Given the description of an element on the screen output the (x, y) to click on. 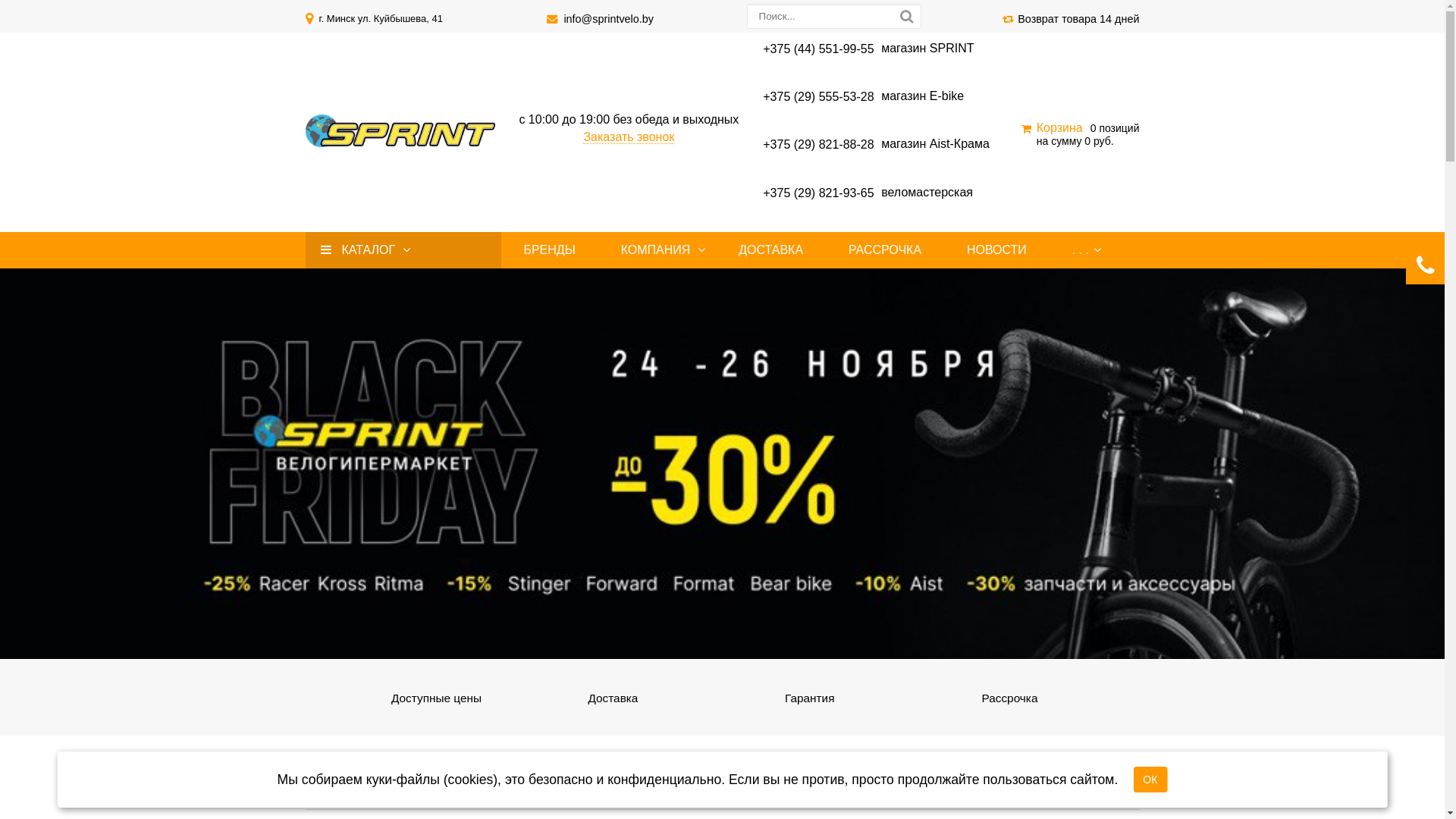
. . . Element type: text (1080, 250)
+375 (29) 821-93-65 Element type: text (817, 192)
+375 (29) 555-53-28 Element type: text (817, 95)
+375 (29) 821-88-28 Element type: text (817, 143)
info@sprintvelo.by Element type: text (608, 18)
+375 (44) 551-99-55 Element type: text (817, 48)
